Given the description of an element on the screen output the (x, y) to click on. 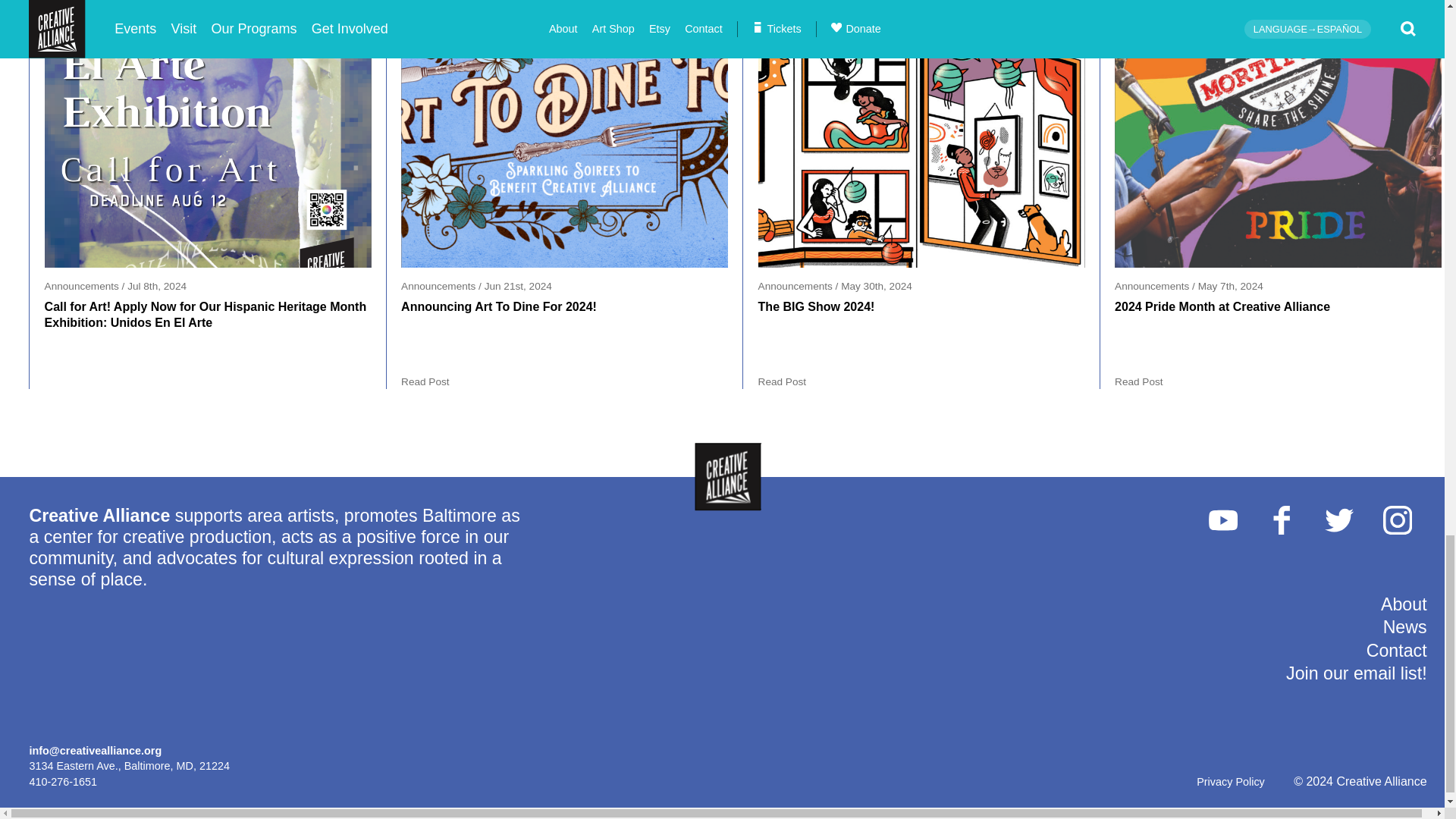
2024 Pride Month at Creative Alliance (1278, 133)
Announcing Art To Dine For 2024! (564, 133)
The BIG Show 2024! (921, 133)
